Given the description of an element on the screen output the (x, y) to click on. 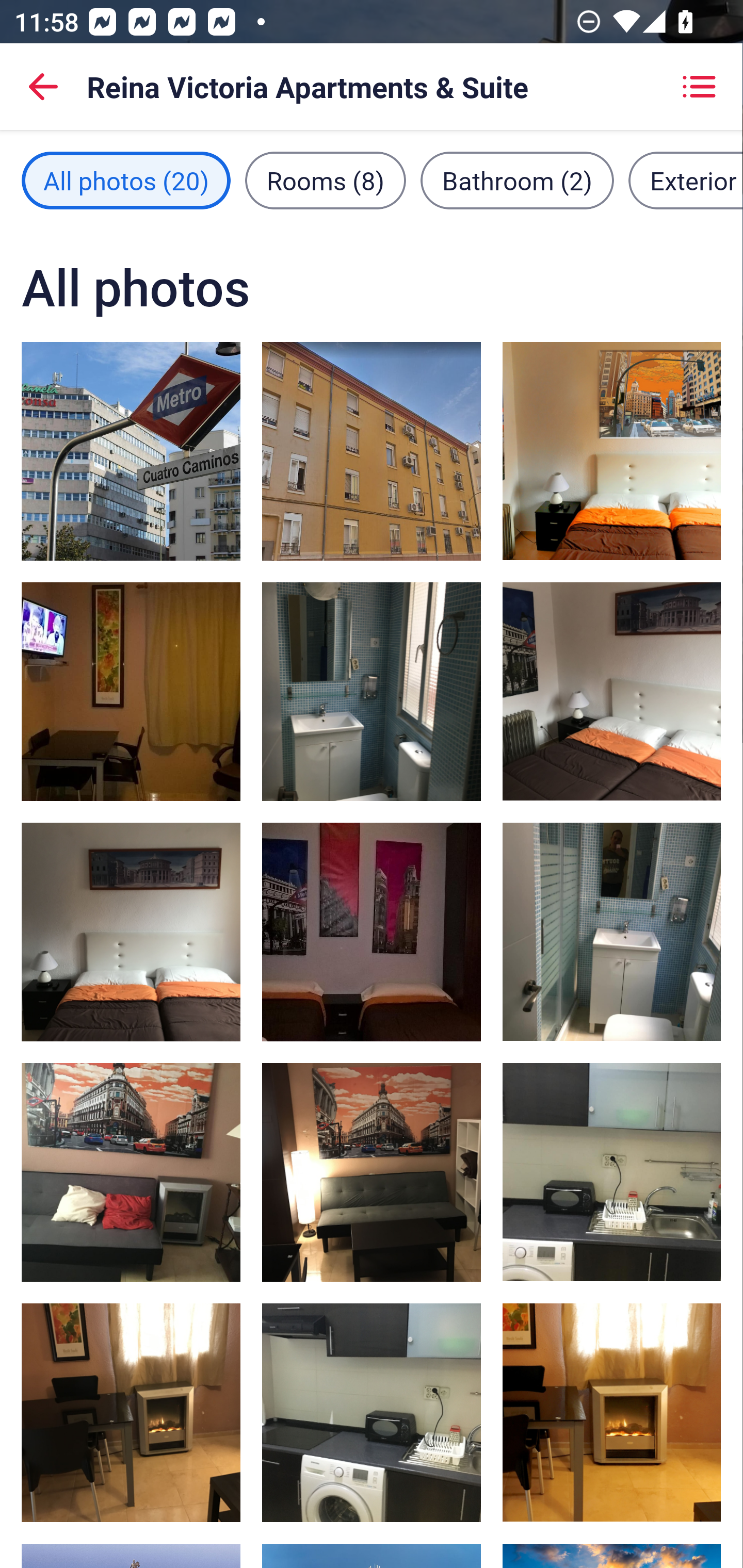
Back (43, 86)
Showing grid view (699, 86)
All photos filter, 20 images (125, 180)
Rooms filter, 8 images (325, 180)
Bathroom filter, 2 images (516, 180)
Exterior filter, 1 image (685, 180)
Exterior, image (130, 451)
Exterior, image (371, 451)
Flat-screen TV, image (130, 691)
Shower, towels, image (371, 691)
Shower, towels, image (611, 932)
Flat-screen TV, image (130, 1172)
Flat-screen TV, image (371, 1172)
Flat-screen TV, image (130, 1412)
Flat-screen TV, image (611, 1411)
